Given the description of an element on the screen output the (x, y) to click on. 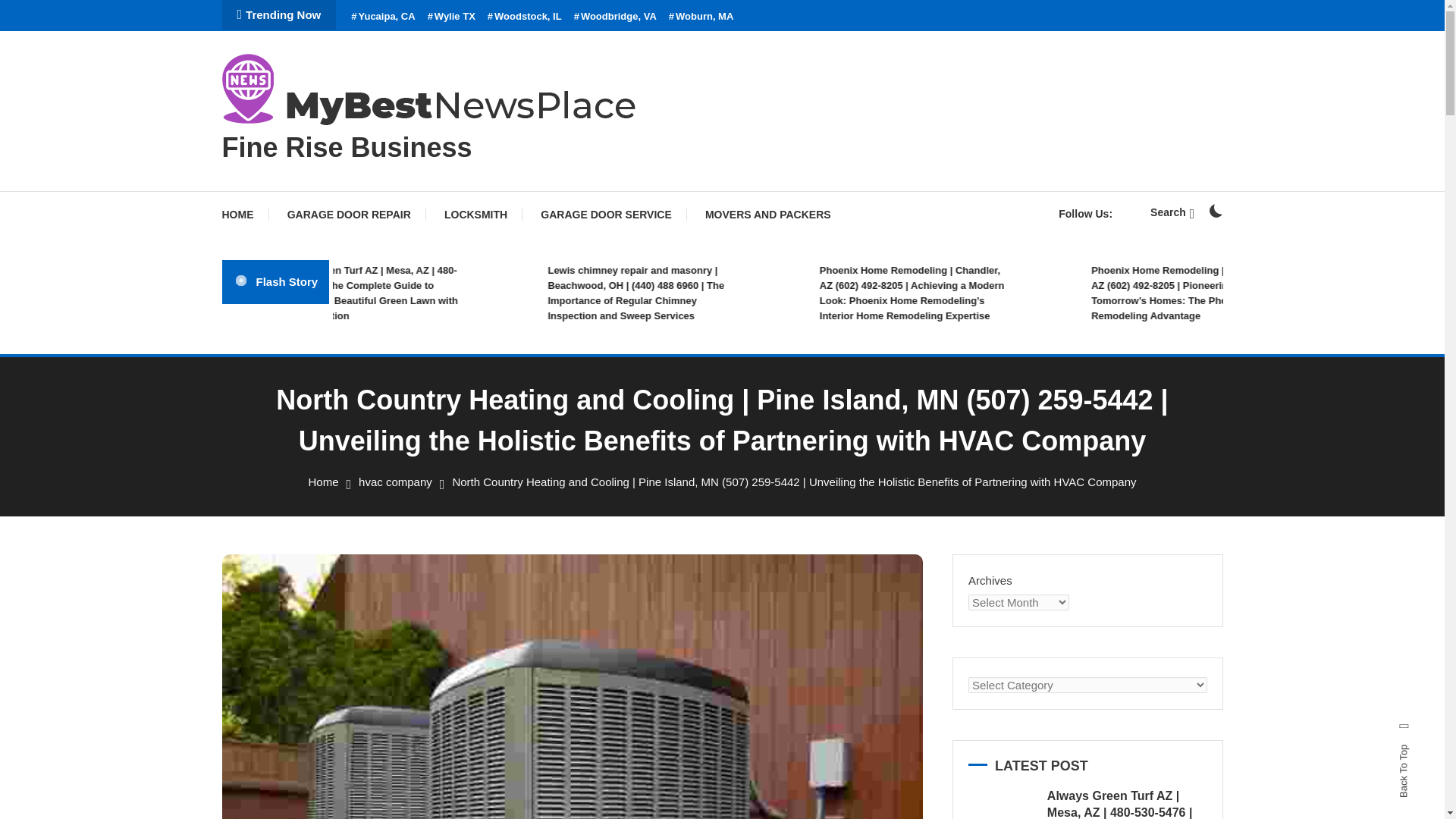
Home (322, 481)
Woburn, MA (700, 16)
LOCKSMITH (475, 214)
Search (1171, 212)
Woodstock, IL (524, 16)
GARAGE DOOR SERVICE (605, 214)
Fine Rise Business (346, 146)
Wylie TX (452, 16)
hvac company (395, 481)
on (1215, 210)
